Given the description of an element on the screen output the (x, y) to click on. 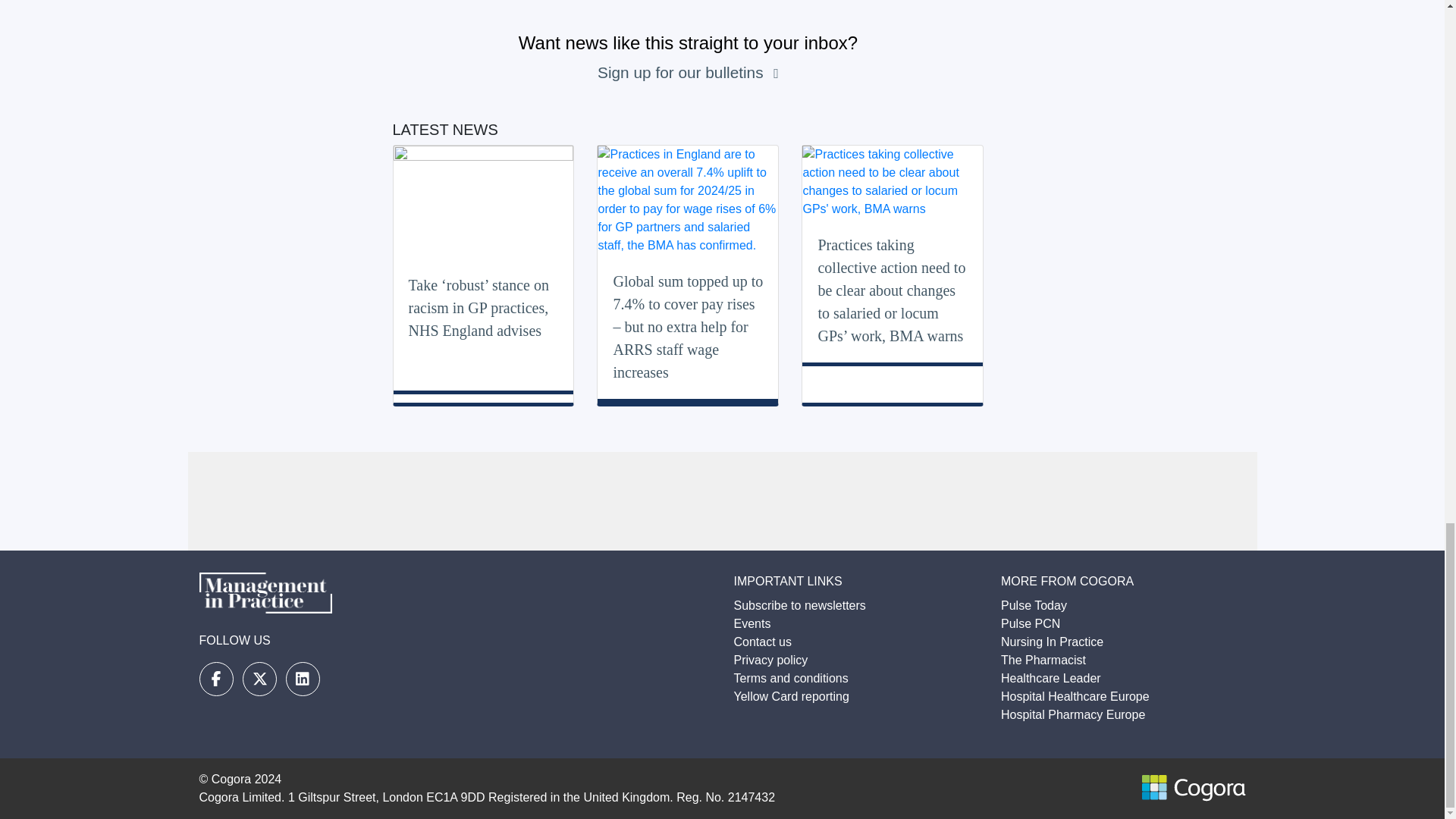
The Pharmacist (1043, 659)
Pulse PCN (1030, 623)
Privacy policy (770, 659)
Contact us (762, 641)
Hospital Healthcare Europe (1075, 696)
Hospital Pharmacy Europe (1072, 714)
Yellow Card reporting (790, 696)
Healthcare Leader (1050, 677)
Subscribe to newsletters (799, 604)
Nursing In Practice (1052, 641)
